Given the description of an element on the screen output the (x, y) to click on. 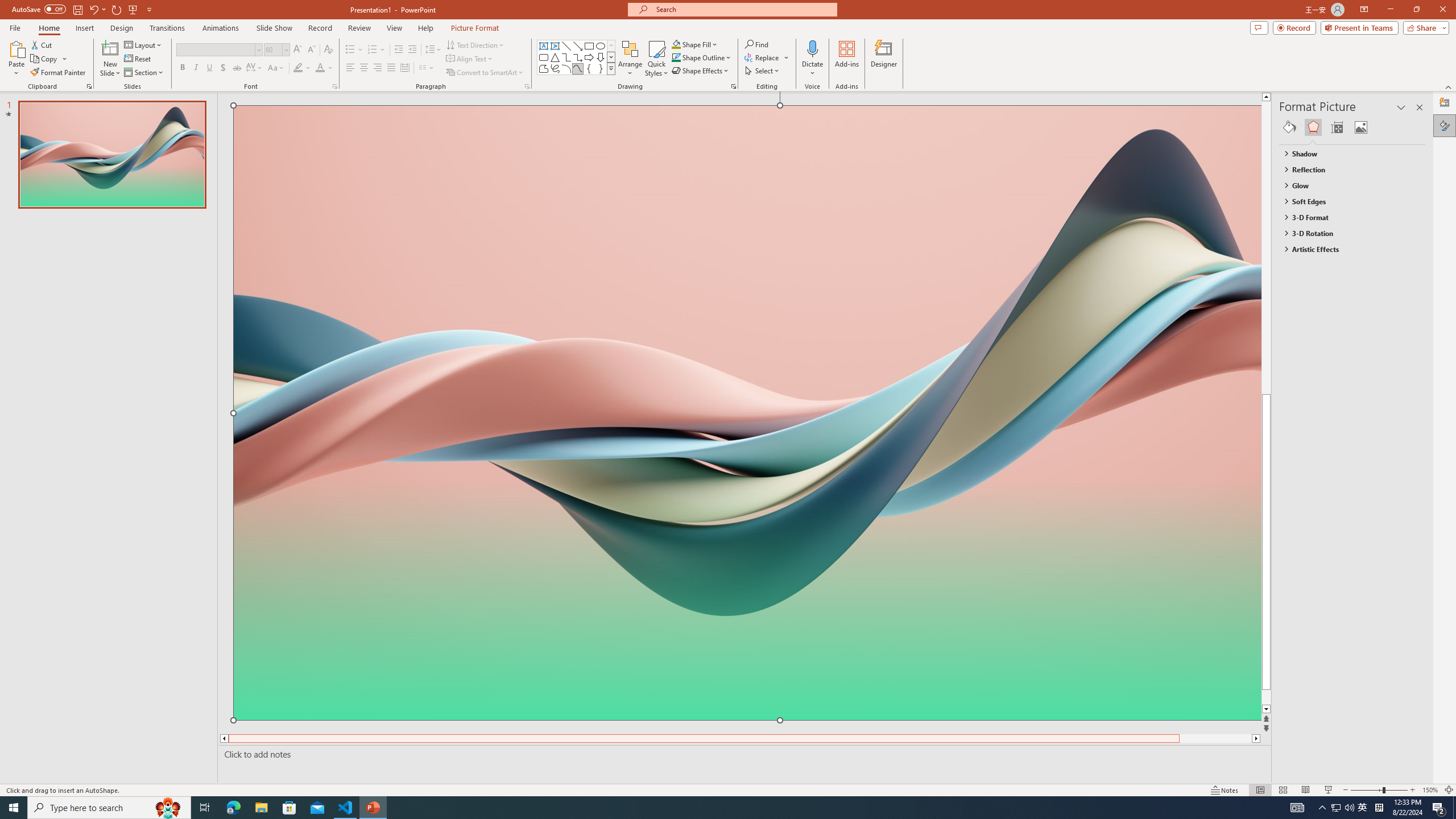
Effects (1313, 126)
